Given the description of an element on the screen output the (x, y) to click on. 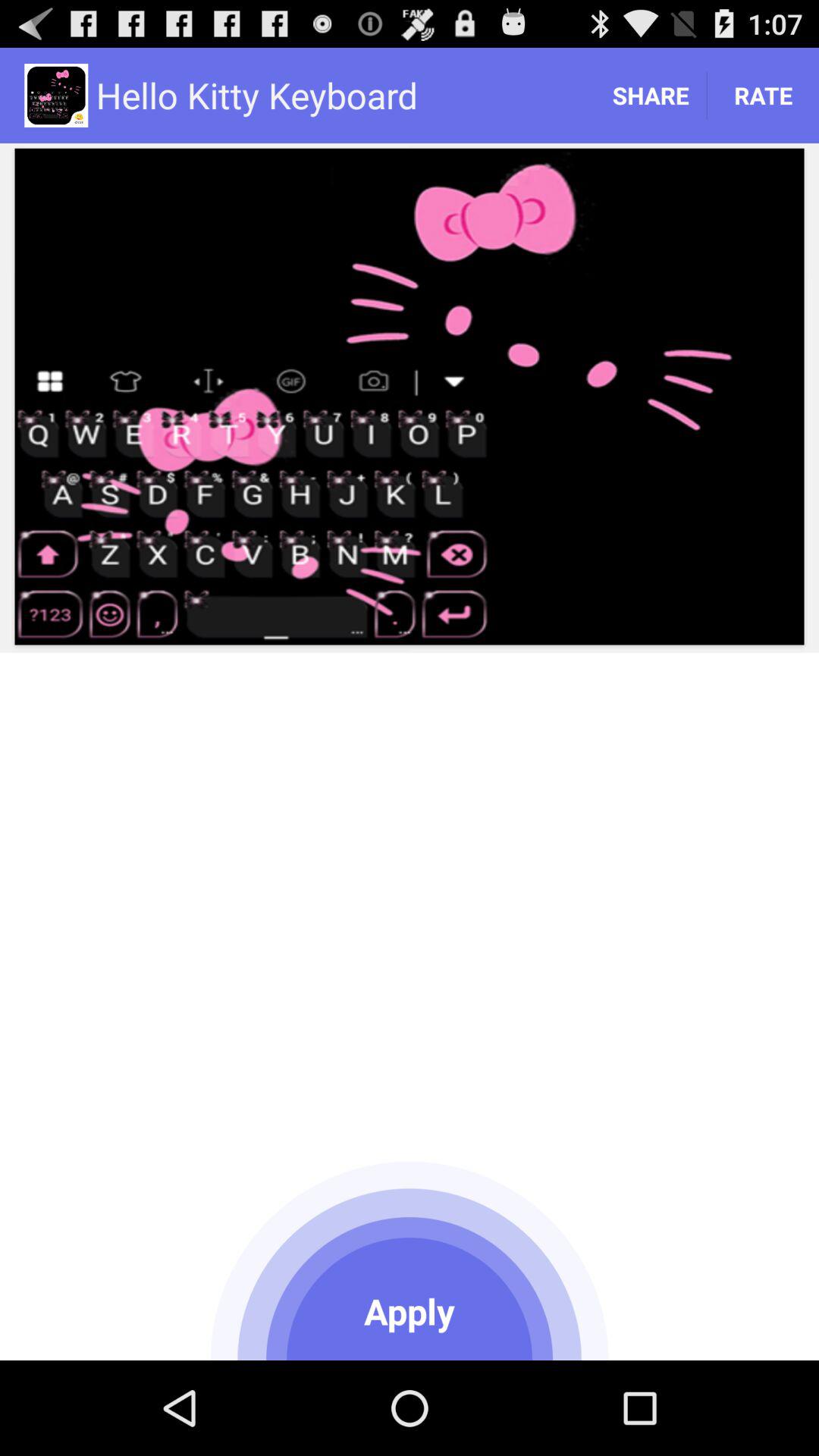
swipe until the rate (763, 95)
